Given the description of an element on the screen output the (x, y) to click on. 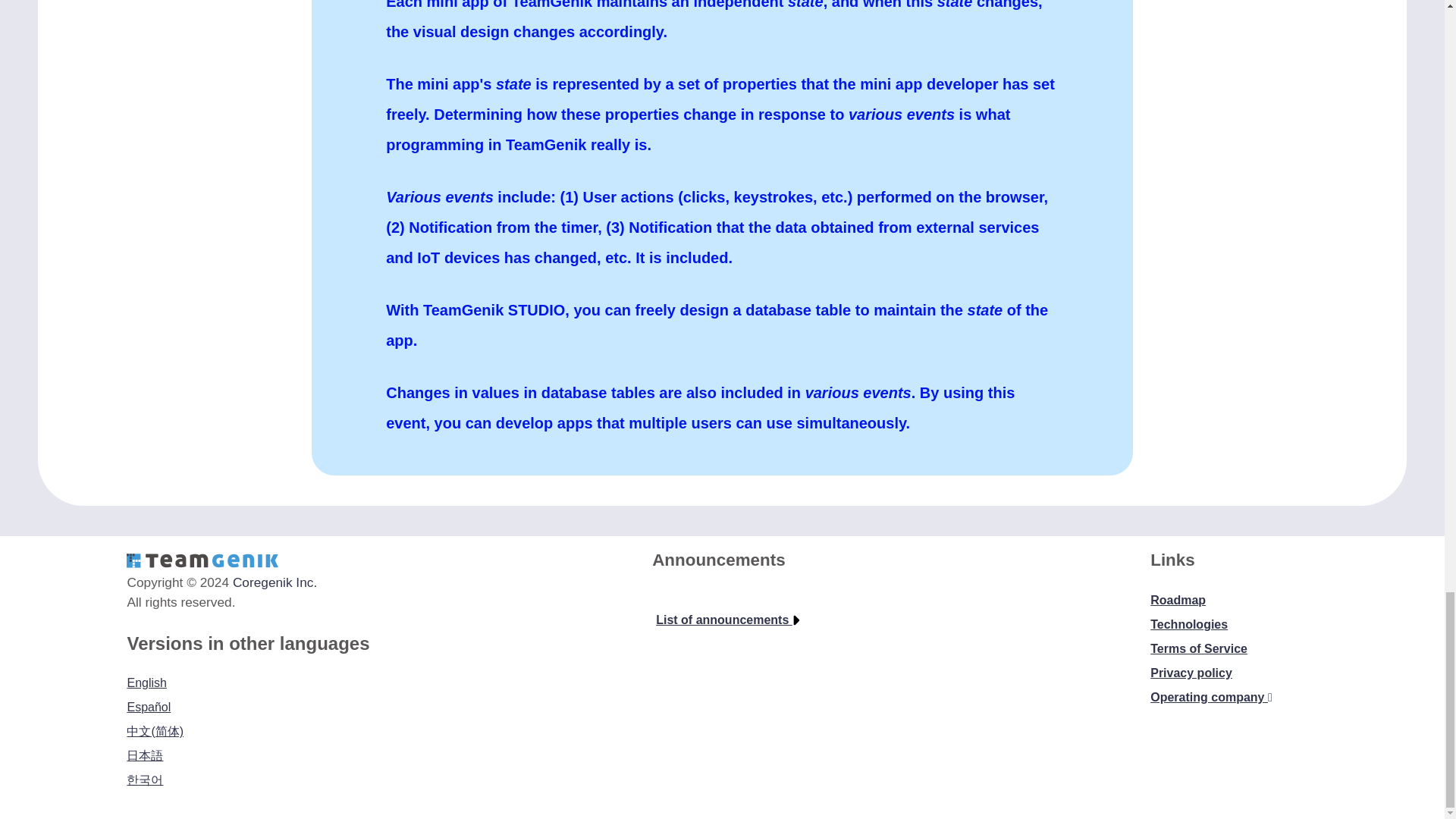
Coregenik Inc. (274, 581)
English (145, 682)
